Given the description of an element on the screen output the (x, y) to click on. 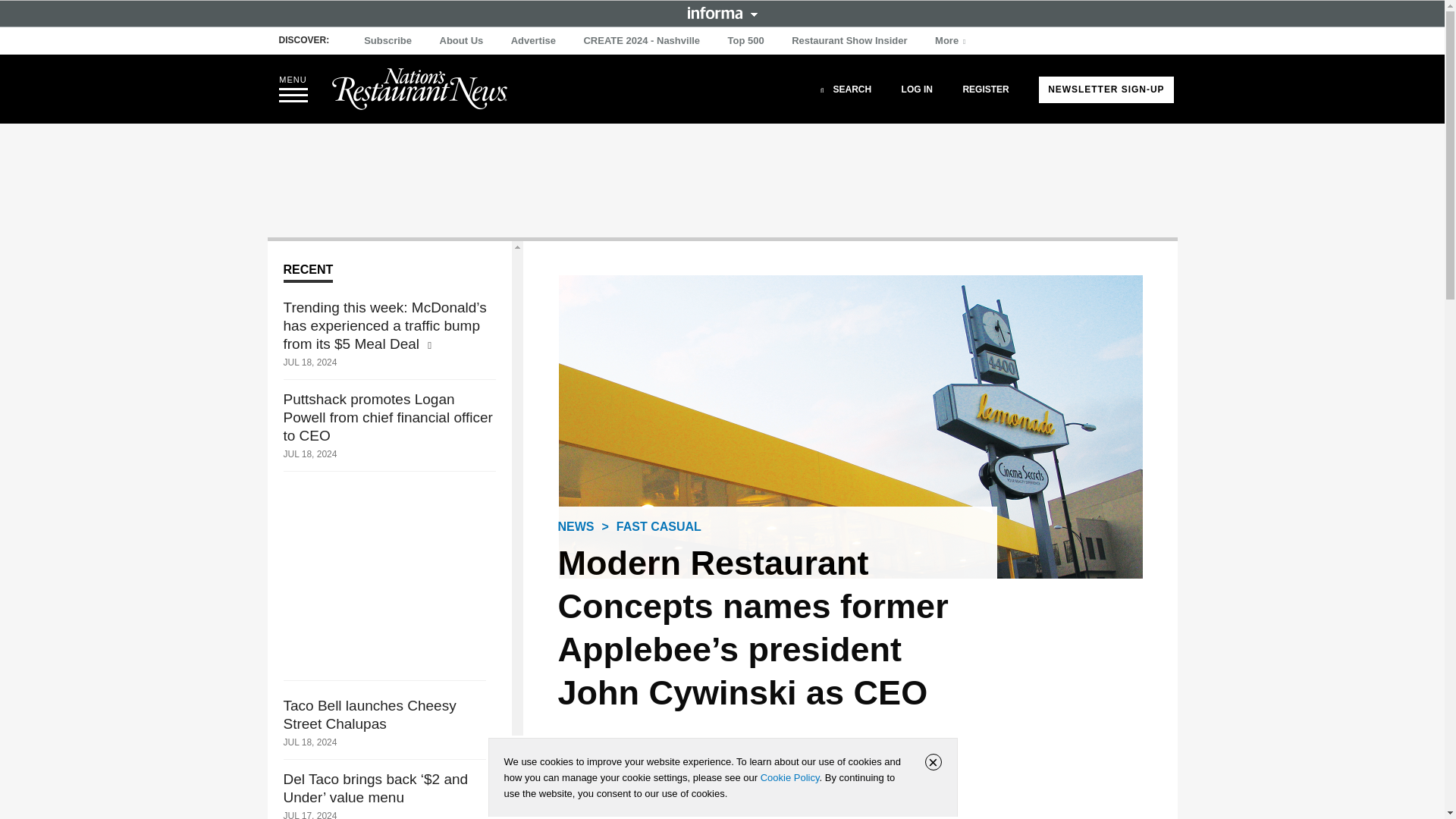
About Us (461, 41)
INFORMA (722, 12)
Subscribe (387, 41)
More (951, 41)
Top 500 (746, 41)
Cookie Policy (789, 777)
Advertise (533, 41)
Restaurant Show Insider (849, 41)
CREATE 2024 - Nashville (641, 41)
